Given the description of an element on the screen output the (x, y) to click on. 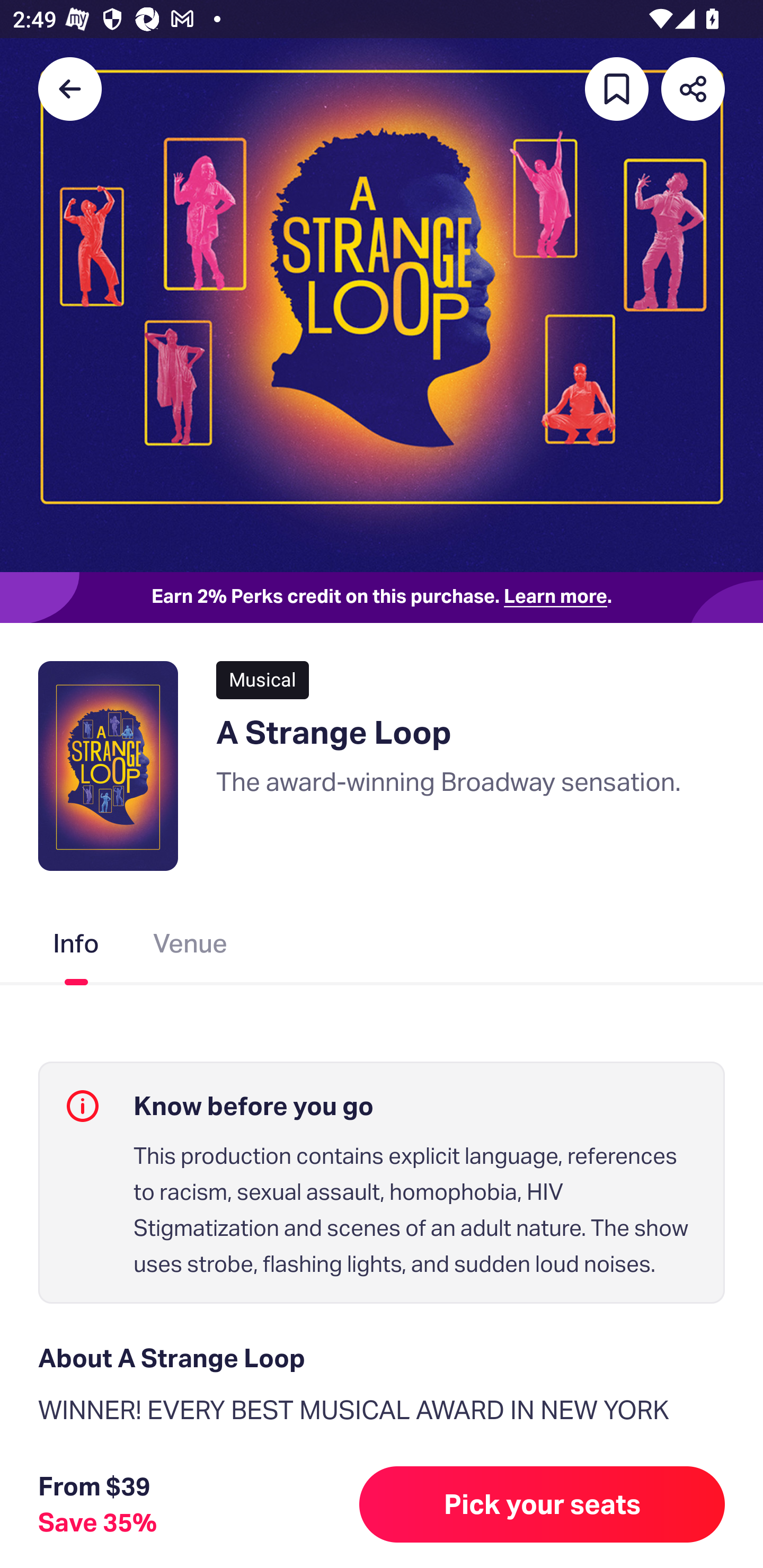
Earn 2% Perks credit on this purchase. Learn more. (381, 597)
Venue (190, 946)
About A Strange Loop (381, 1358)
Pick your seats (541, 1504)
